Given the description of an element on the screen output the (x, y) to click on. 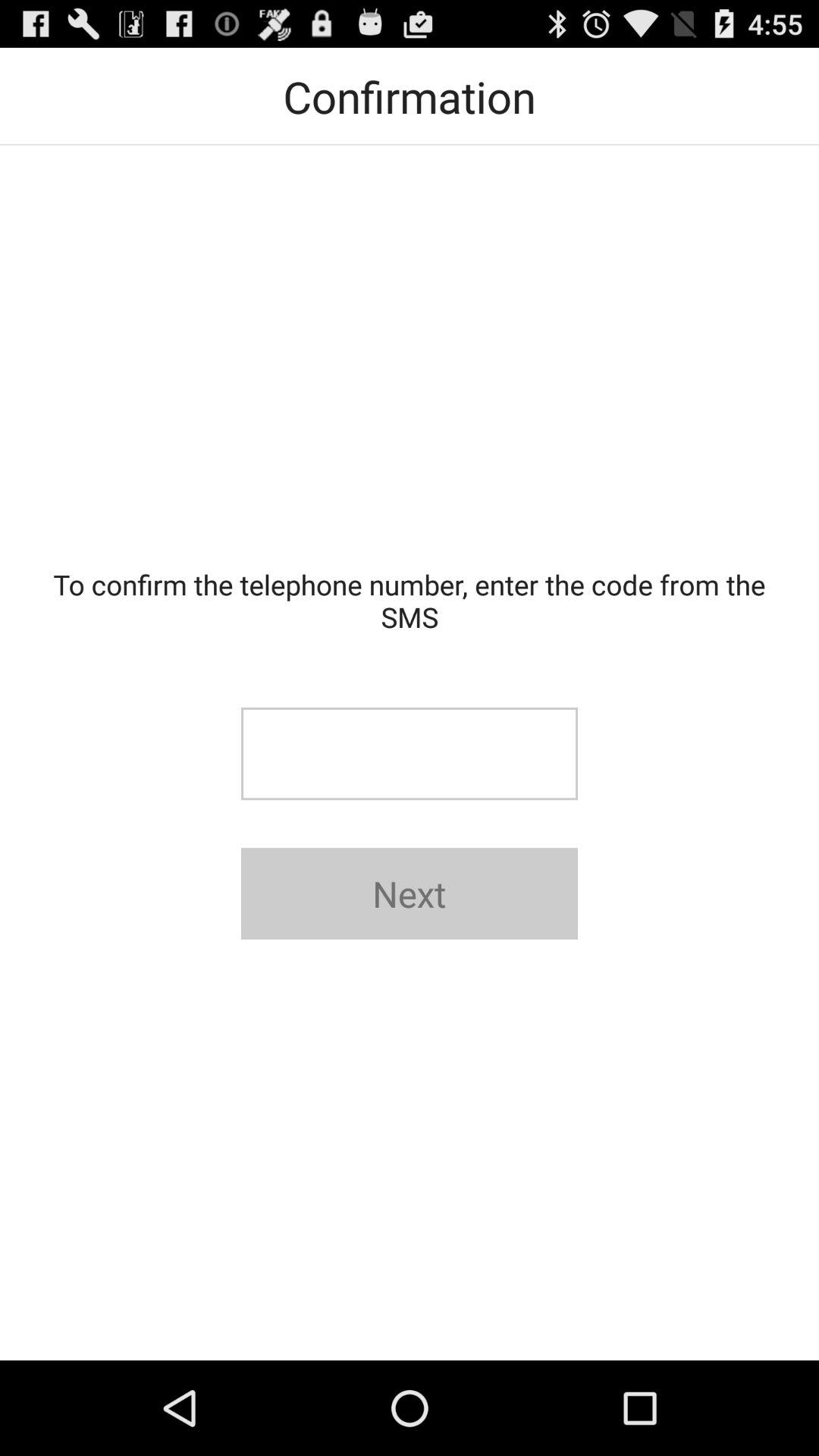
tap item above next item (409, 753)
